Given the description of an element on the screen output the (x, y) to click on. 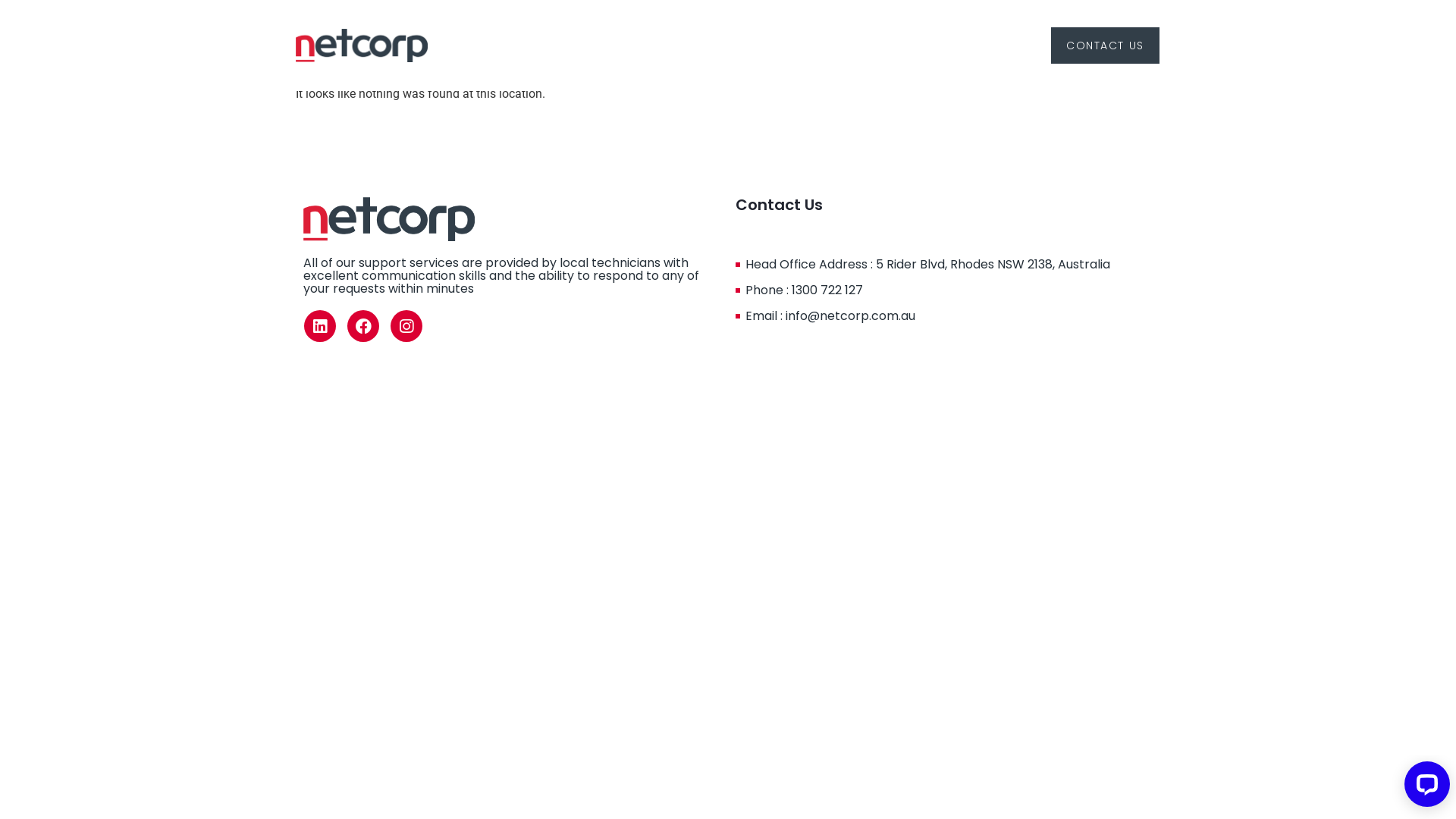
CONTACT US Element type: text (1104, 45)
